Given the description of an element on the screen output the (x, y) to click on. 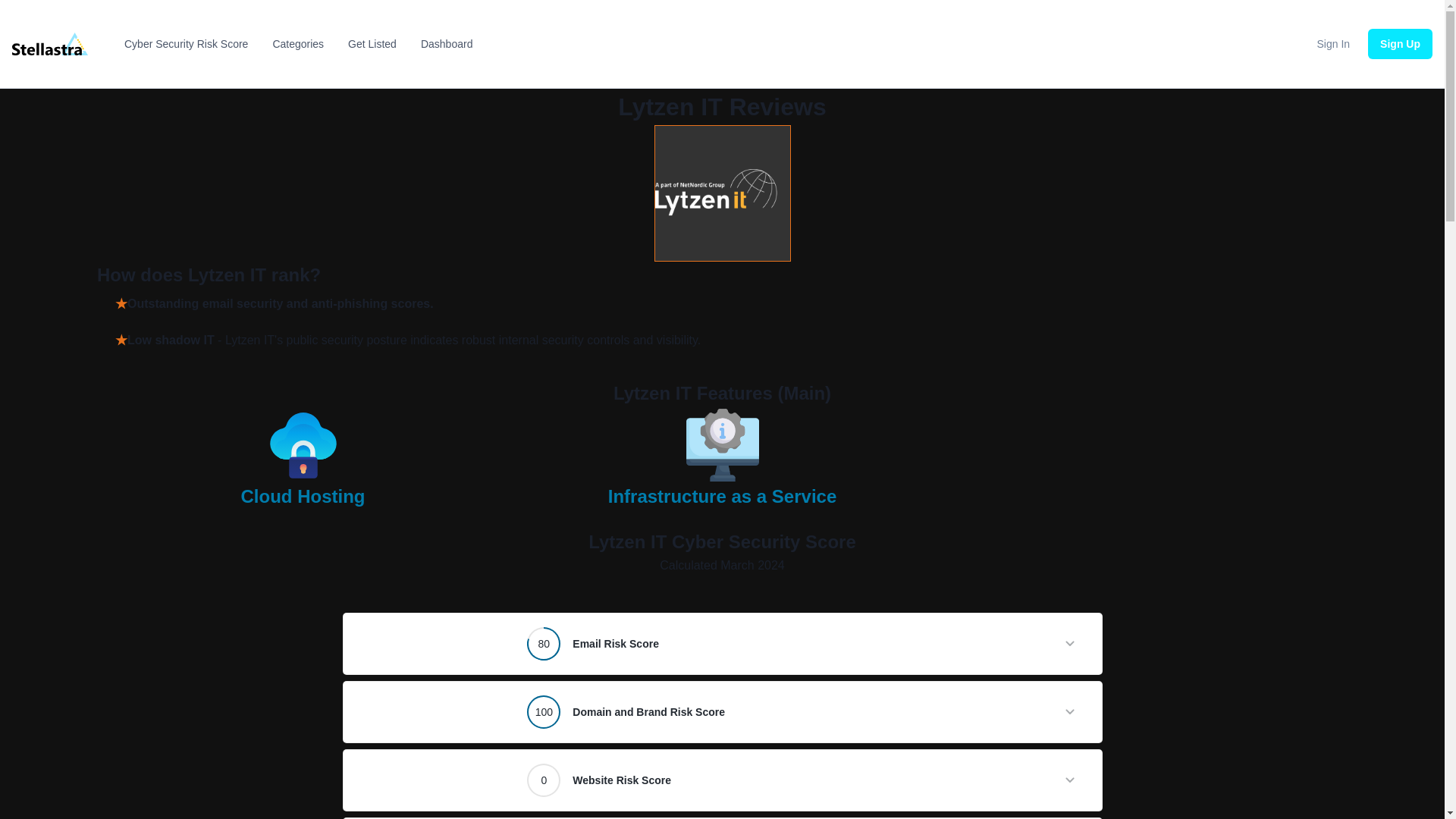
Dashboard (446, 44)
Sign In (1334, 43)
Cloud Hosting (303, 504)
Get Listed (372, 44)
Categories (298, 44)
Infrastructure as a Service (722, 504)
Sign Up (1400, 43)
Cyber Security Risk Score (185, 44)
